Given the description of an element on the screen output the (x, y) to click on. 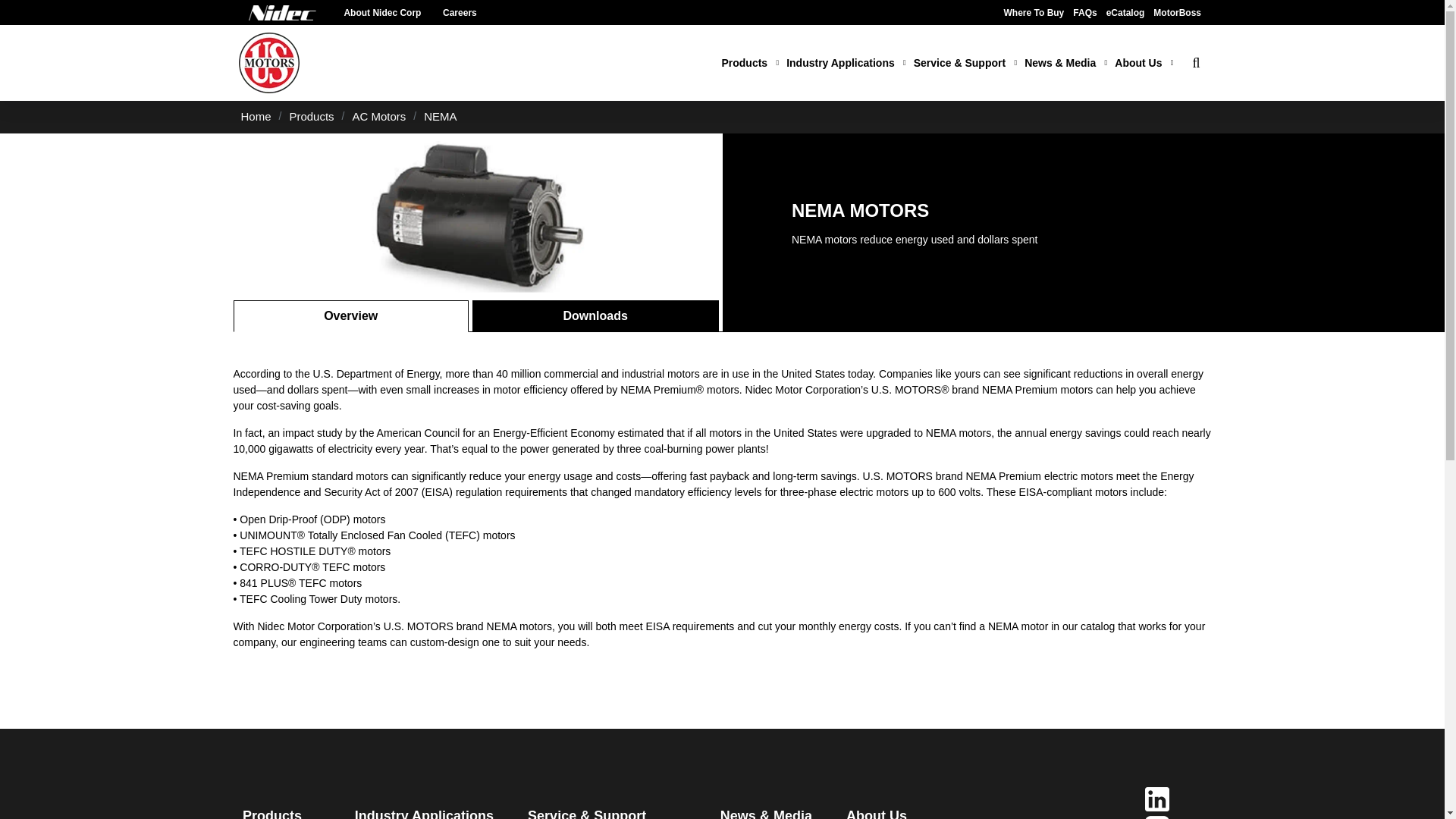
Products (749, 63)
FAQs (1084, 12)
Where To Buy (1034, 12)
eCatalog (1125, 12)
MotorBoss (1177, 12)
Products And Services (749, 63)
Careers (459, 12)
About Nidec Corp (381, 12)
Logo (282, 11)
